Given the description of an element on the screen output the (x, y) to click on. 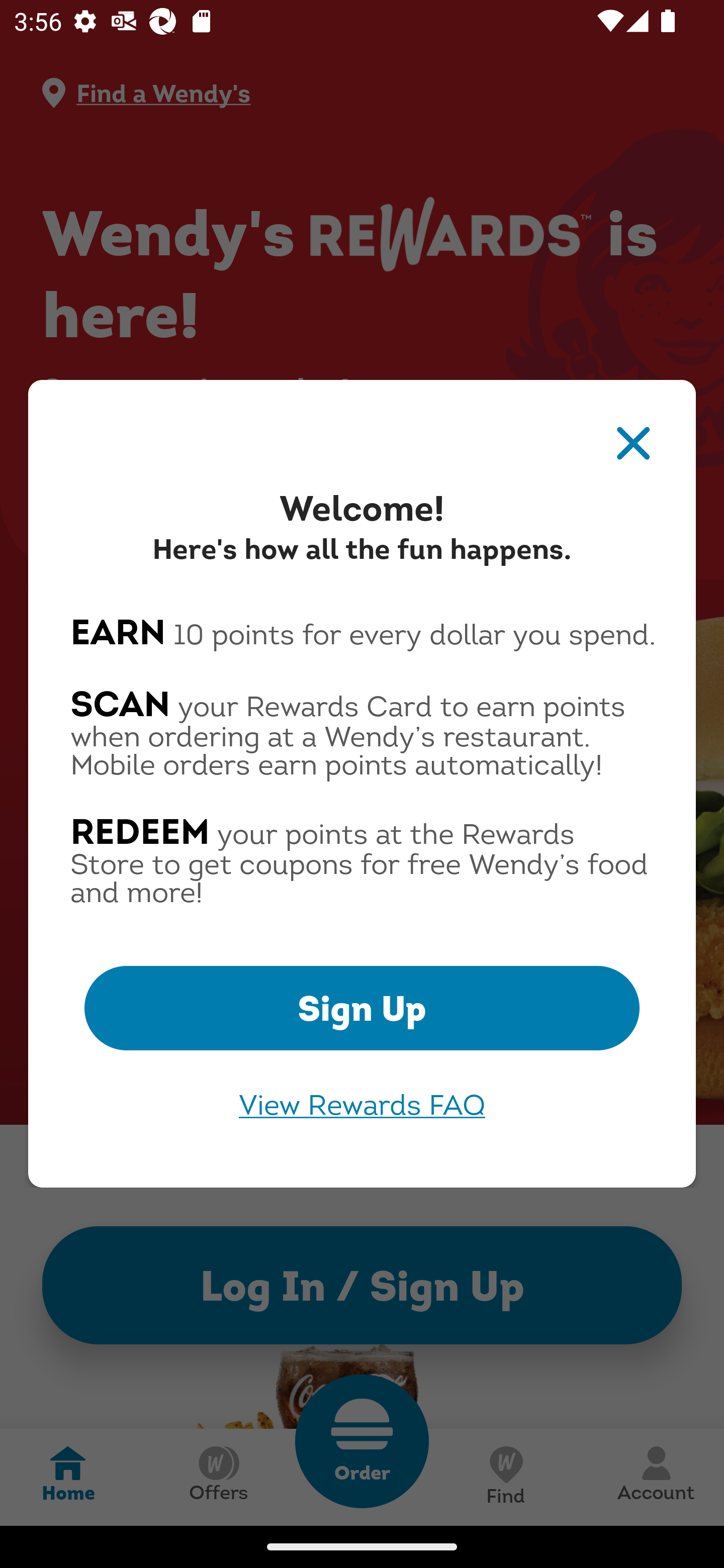
Sign Up (361, 1007)
View Rewards FAQ View Rewards FAQ Link (361, 1104)
